Given the description of an element on the screen output the (x, y) to click on. 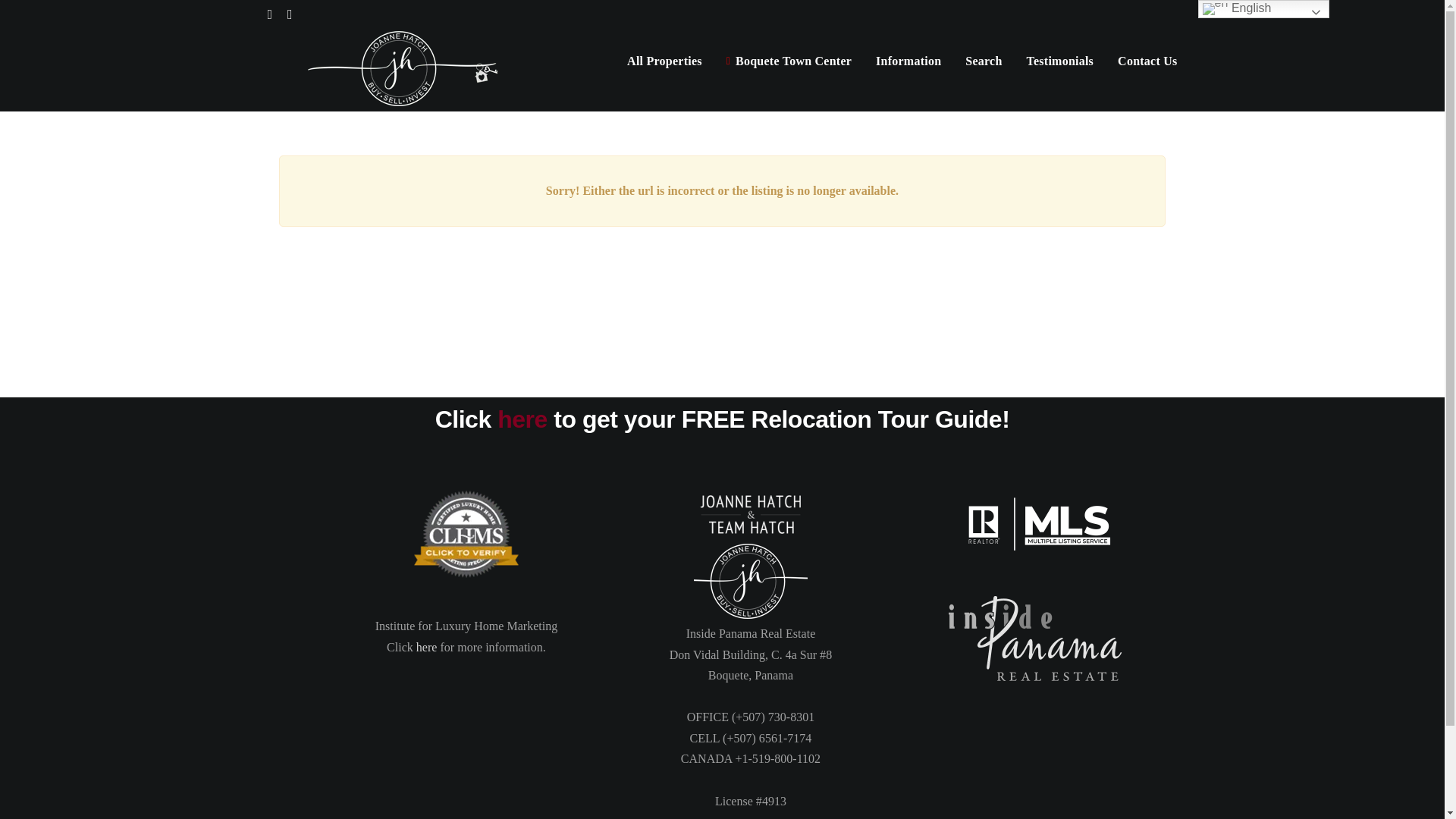
homes for sale in panama (465, 534)
Testimonials (1060, 61)
Joanne Hatch Panama Real Estate (751, 514)
Contact Us (1147, 61)
Boquete Town Center (788, 61)
Inside Panama Real Estate (1035, 638)
Information (908, 61)
All Properties (664, 61)
Joanne Hatch Panama Real Estate (751, 580)
